Given the description of an element on the screen output the (x, y) to click on. 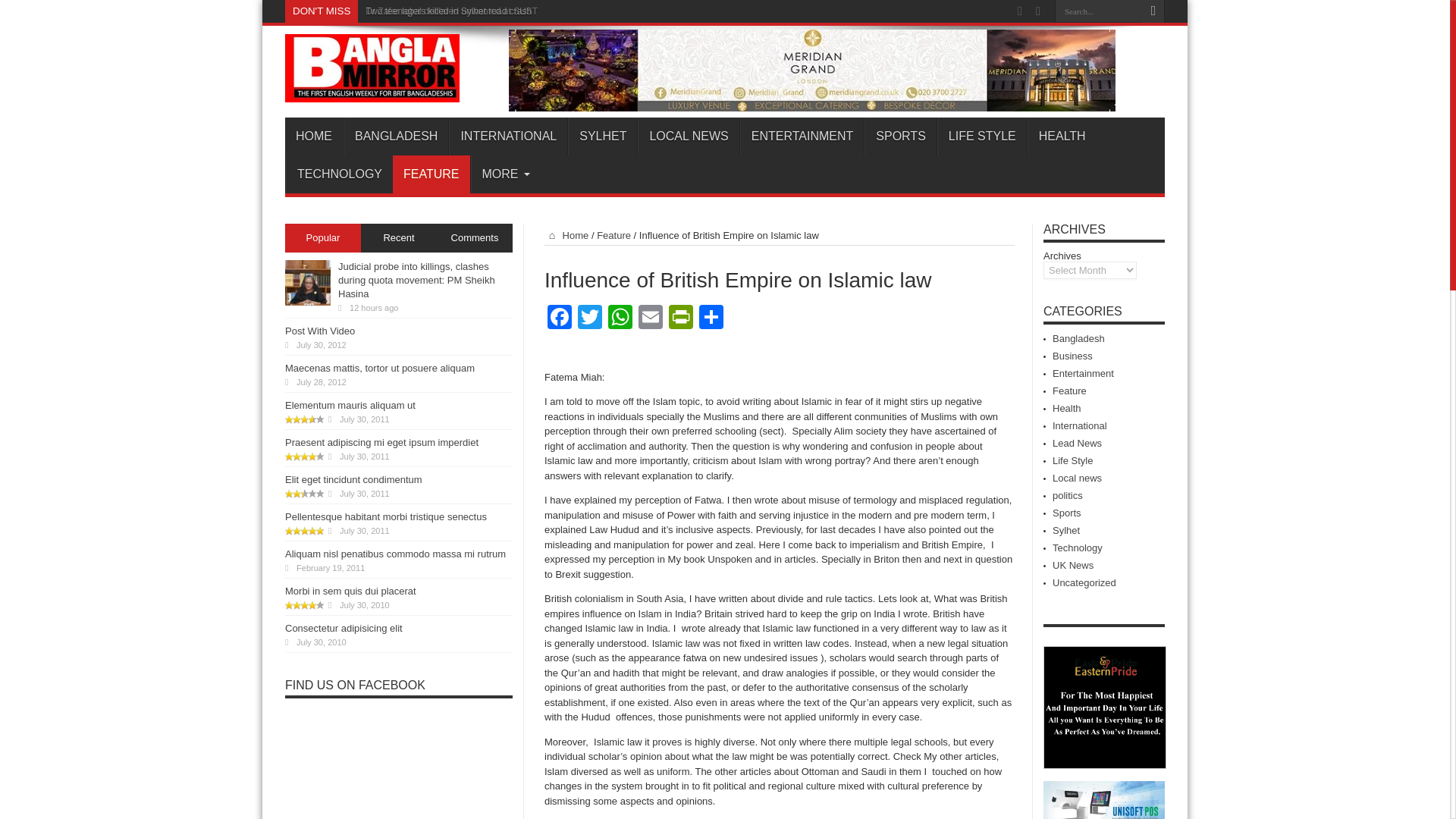
Search... (1097, 11)
WhatsApp (619, 318)
Dr Zafar Iqbal declared unwanted at SUST (451, 11)
Dr Zafar Iqbal declared unwanted at SUST (451, 11)
Search (1152, 11)
Two teenagers killed in Sylhet road crash (448, 11)
Email (649, 318)
Facebook (559, 318)
PrintFriendly (680, 318)
Twitter (590, 318)
MORE (502, 174)
